Given the description of an element on the screen output the (x, y) to click on. 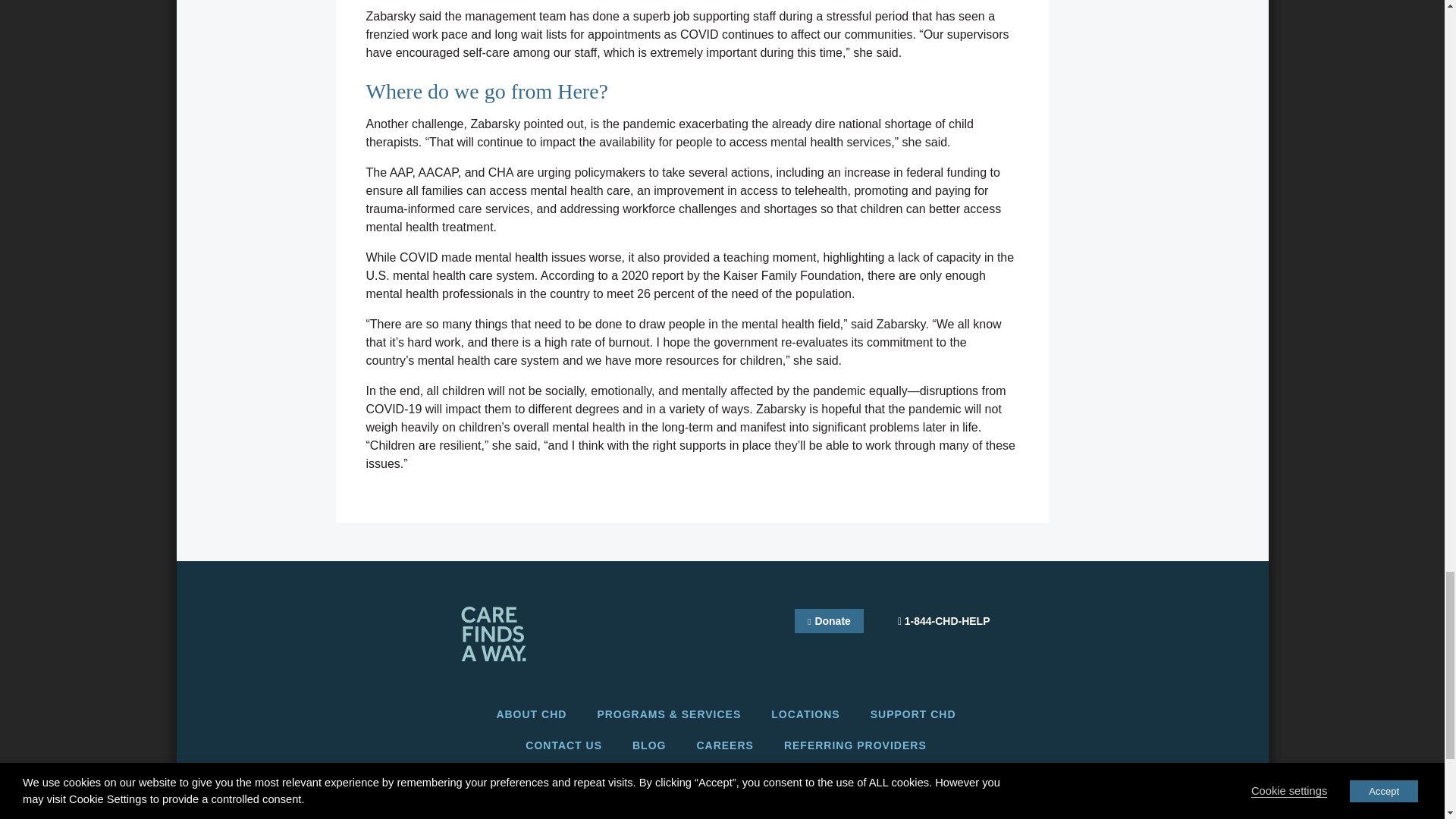
Donate (828, 621)
ABOUT CHD (531, 714)
1-844-CHD-HELP (944, 621)
